Given the description of an element on the screen output the (x, y) to click on. 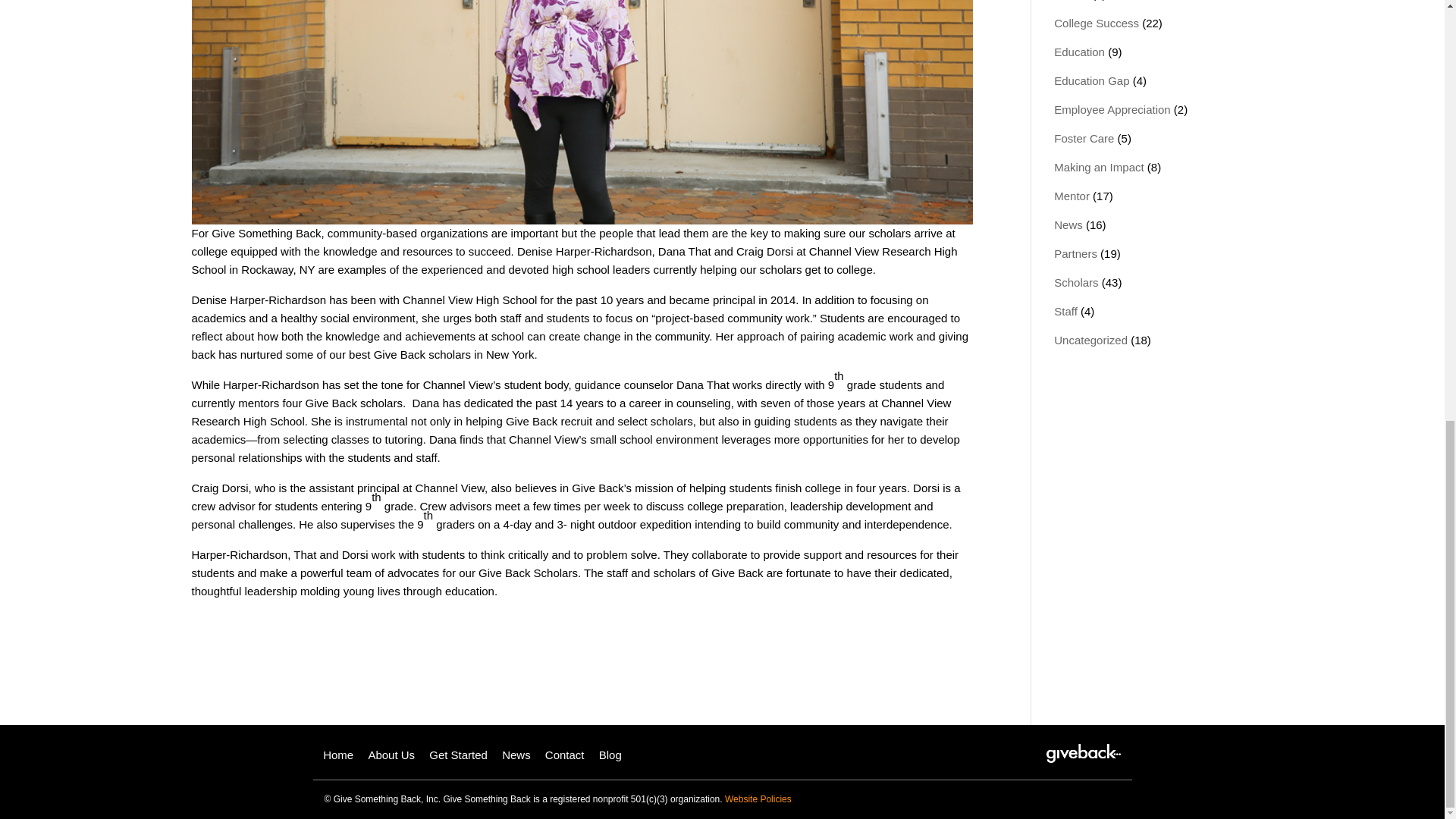
Education Gap (1091, 80)
Making an Impact (1098, 166)
Foster Care (1083, 137)
Employee Appreciation (1112, 109)
Education (1079, 51)
College Success (1096, 22)
